Given the description of an element on the screen output the (x, y) to click on. 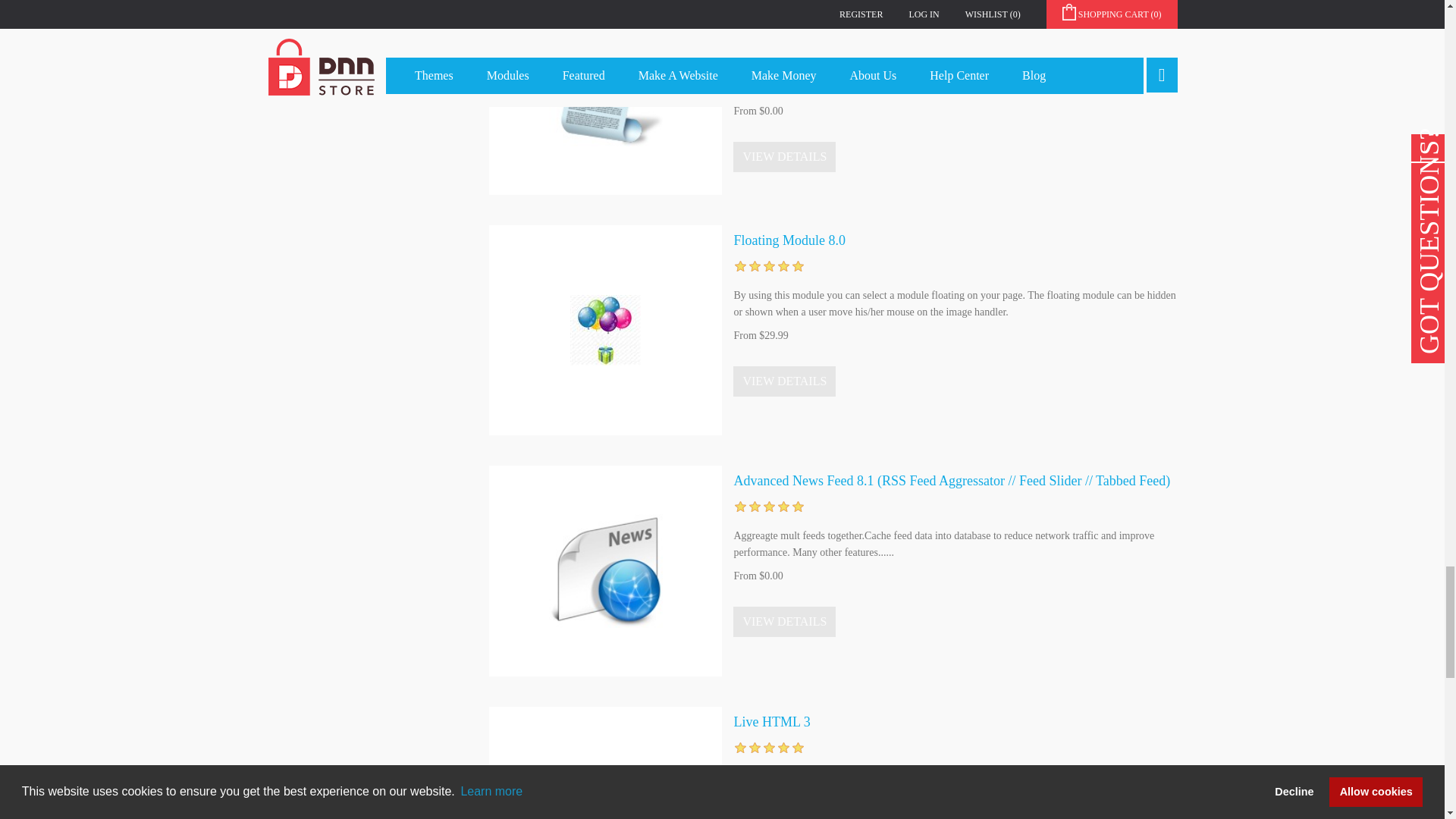
View Details (784, 381)
View Details (784, 156)
View Details (784, 621)
